Given the description of an element on the screen output the (x, y) to click on. 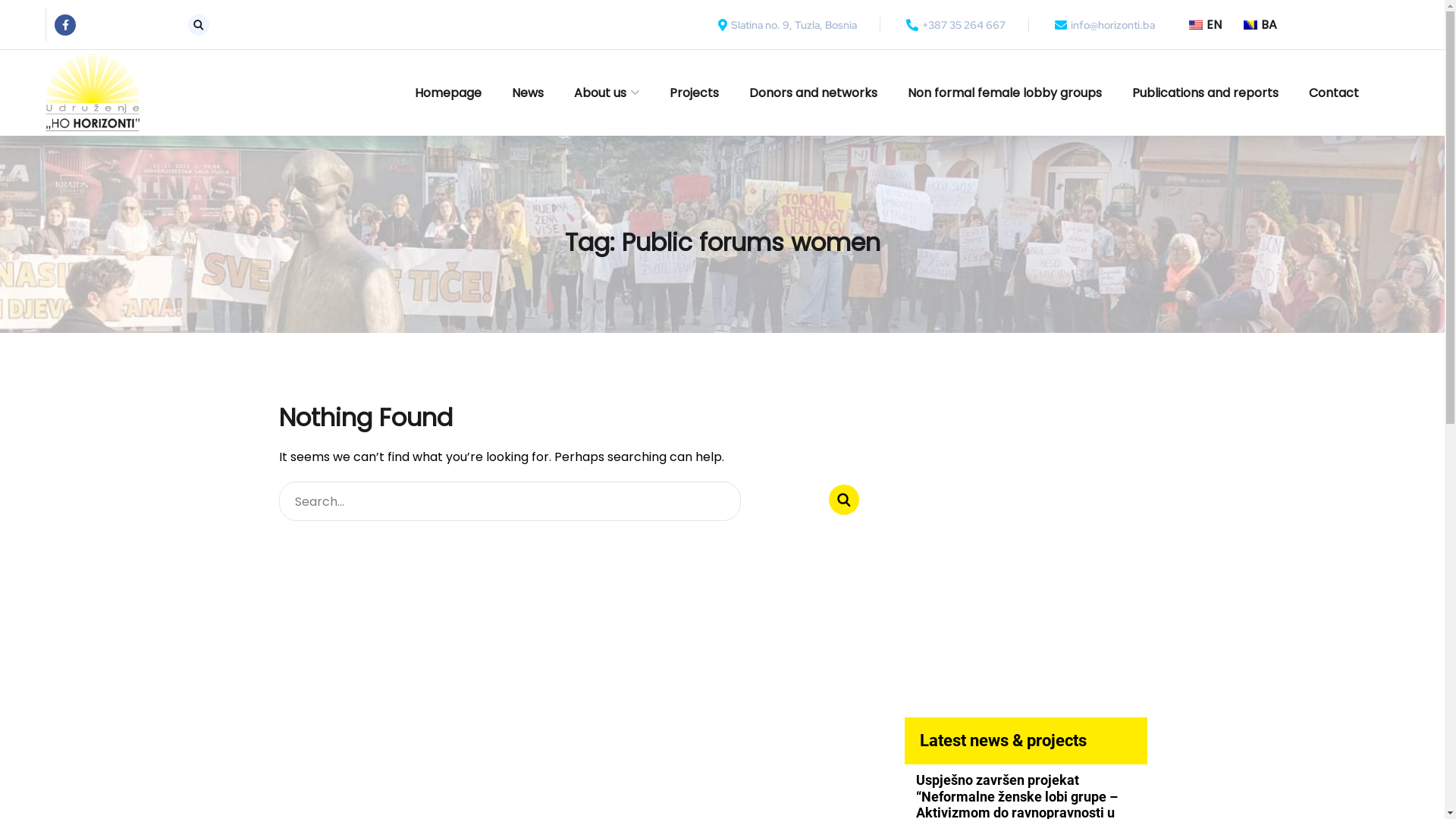
Bosanski Element type: hover (1250, 24)
English Element type: hover (1195, 24)
Non formal female lobby groups Element type: text (1004, 92)
Projects Element type: text (693, 92)
info@horizonti.ba Element type: text (1102, 23)
Homepage Element type: text (447, 92)
News Element type: text (527, 92)
Contact Element type: text (1333, 92)
Publications and reports Element type: text (1205, 92)
About us Element type: text (606, 92)
BA Element type: text (1251, 24)
EN Element type: text (1197, 24)
Donors and networks Element type: text (813, 92)
+387 35 264 667 Element type: text (954, 23)
